Given the description of an element on the screen output the (x, y) to click on. 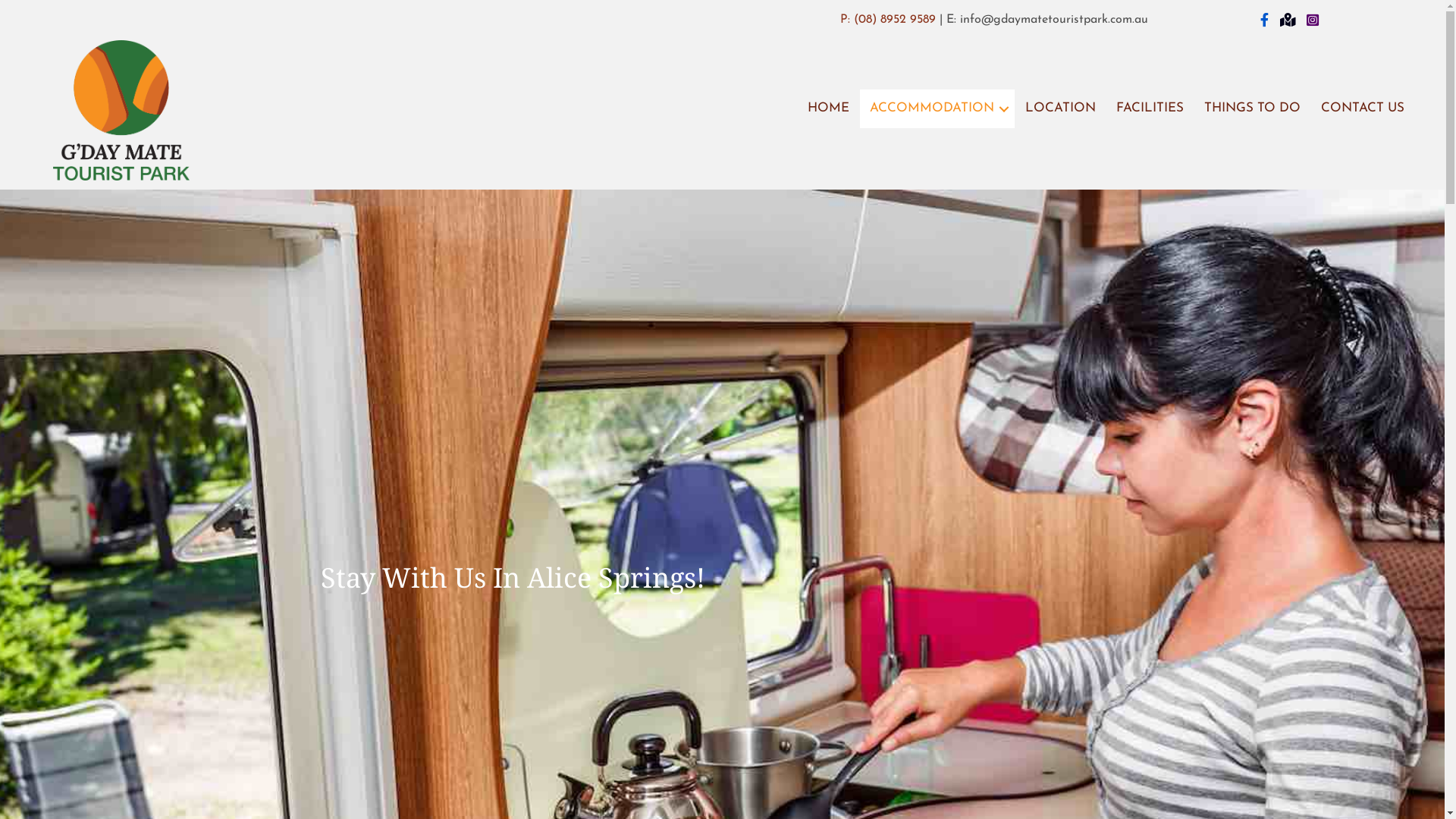
ACCOMMODATION Element type: text (936, 108)
LOCATION Element type: text (1060, 108)
P: (08) 8952 9589 Element type: text (887, 19)
HOME Element type: text (828, 108)
FACILITIES Element type: text (1149, 108)
CONTACT US Element type: text (1362, 108)
G'DayMateTPTransparent__logo Element type: hover (121, 109)
THINGS TO DO Element type: text (1252, 108)
